Given the description of an element on the screen output the (x, y) to click on. 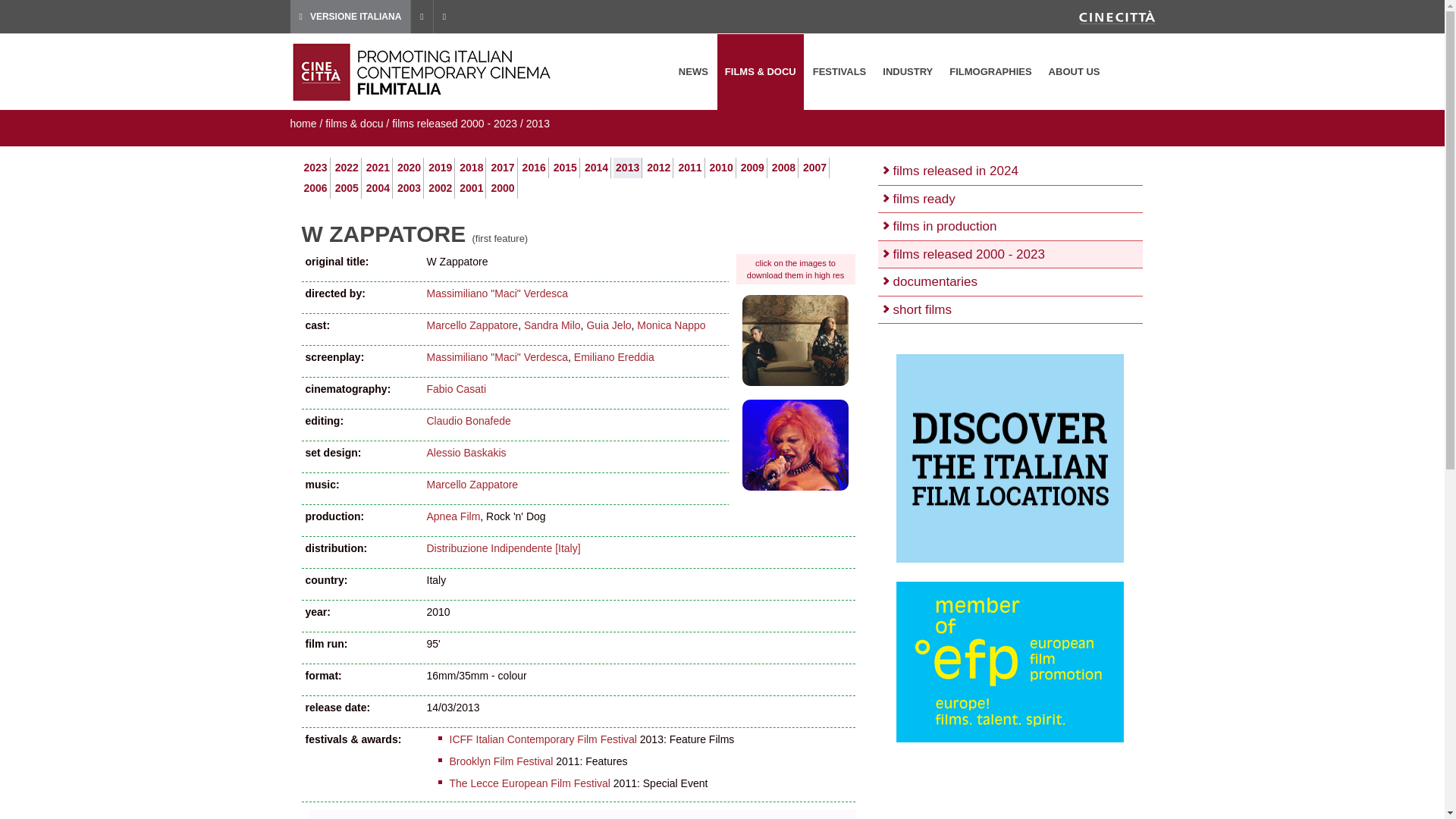
FILMOGRAPHIES (990, 71)
2012 (657, 167)
home (302, 123)
2014 (596, 167)
2017 (501, 167)
2018 (471, 167)
2004 (378, 187)
2009 (752, 167)
search (1134, 72)
2023 (314, 167)
